Given the description of an element on the screen output the (x, y) to click on. 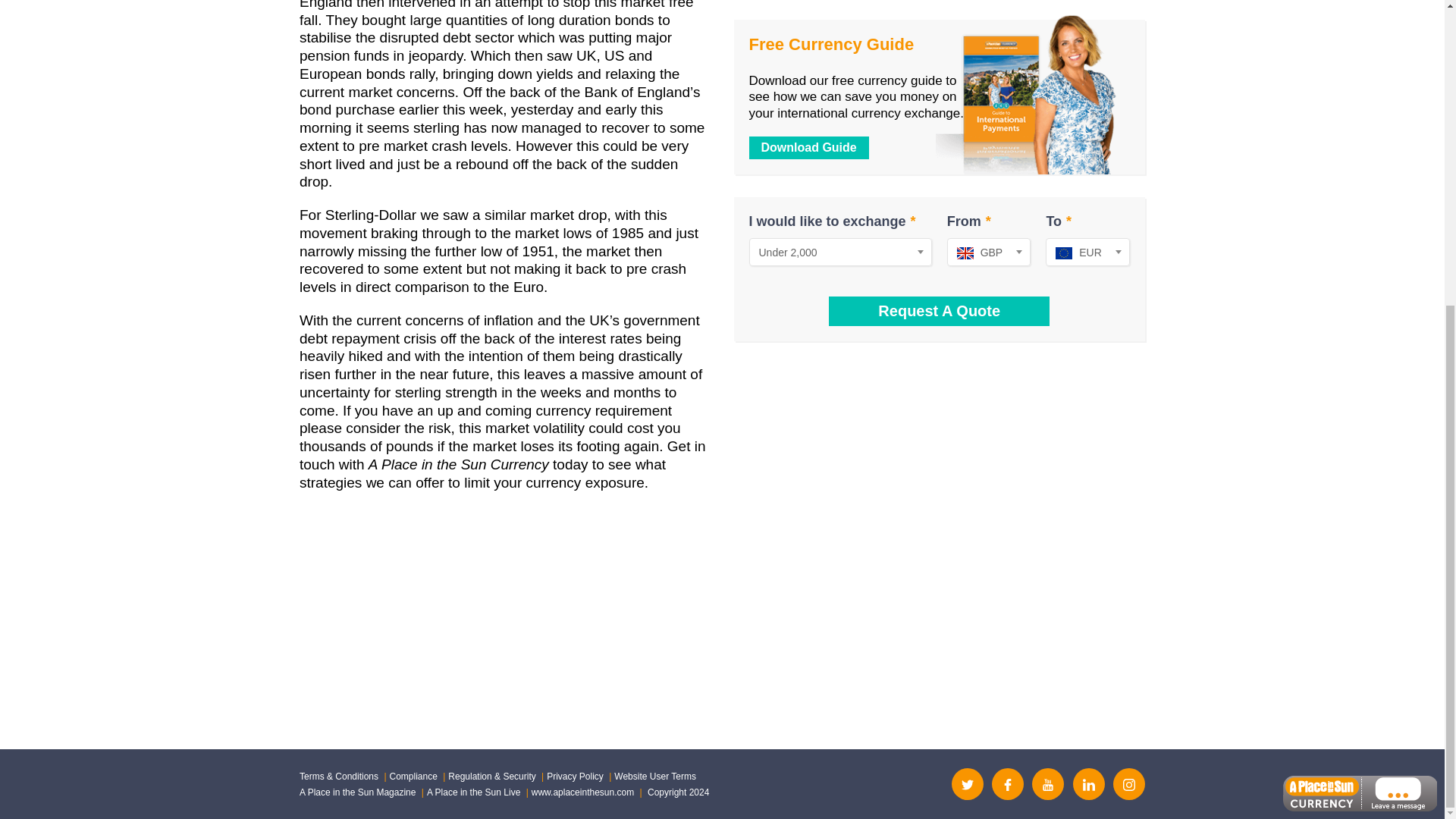
EUR (1087, 251)
Request A Quote (938, 310)
A Place in the Sun Magazine (356, 792)
Download Guide (809, 147)
Compliance (414, 776)
Under 2,000 (839, 251)
Website User Terms (654, 776)
A Place in the Sun Live (472, 792)
Request A Quote (938, 310)
Privacy Policy (575, 776)
www.aplaceinthesun.com (582, 792)
Reviews Widget (721, 650)
GBP (988, 251)
